Given the description of an element on the screen output the (x, y) to click on. 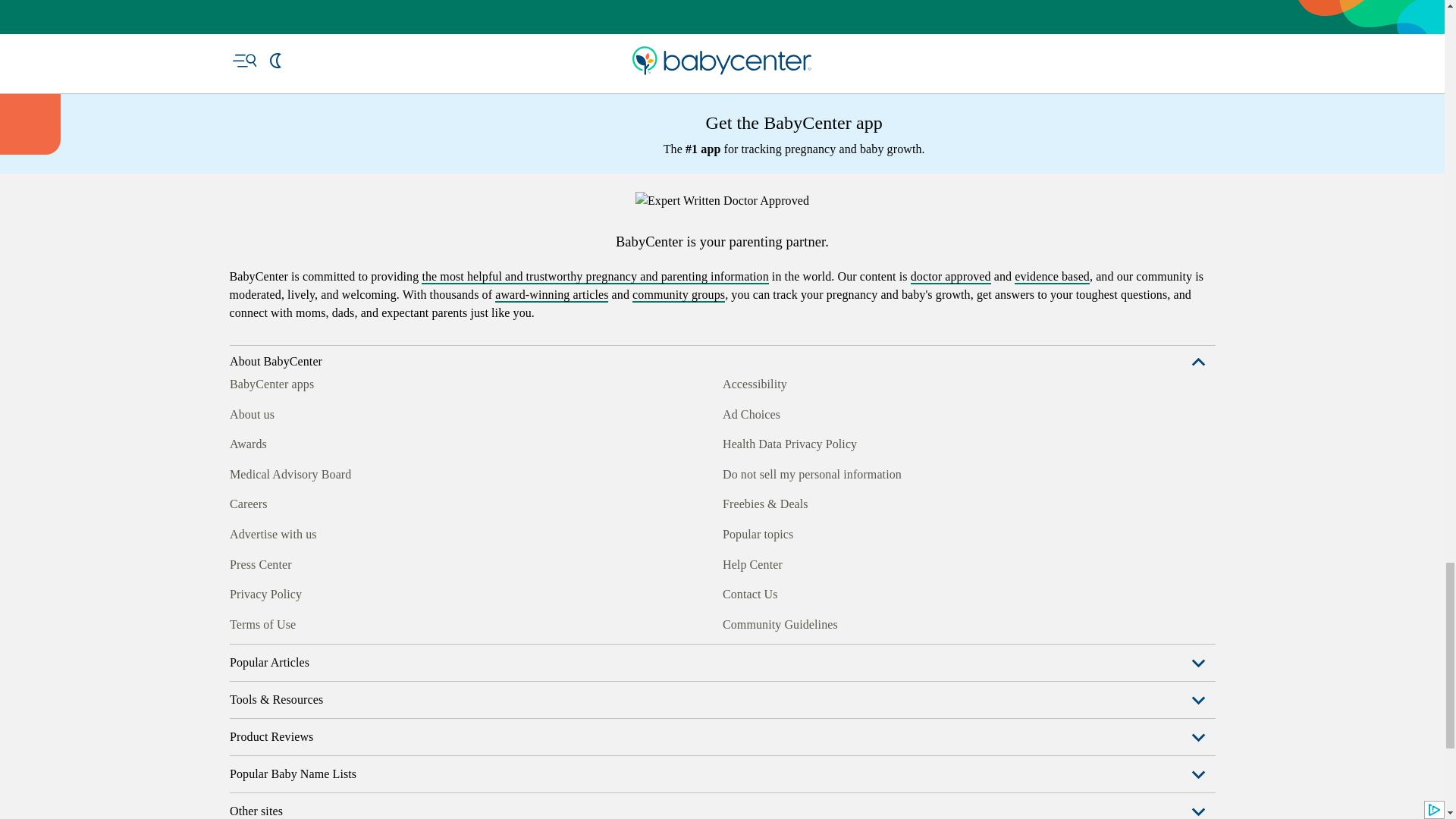
BabyCenter Instagram feed (274, 621)
BabyCenter Facebook page (239, 621)
BabyCenter Pinterest board (309, 621)
BabyCenter YouTube channel (344, 621)
BabyCenter Twitter feed (379, 621)
